Given the description of an element on the screen output the (x, y) to click on. 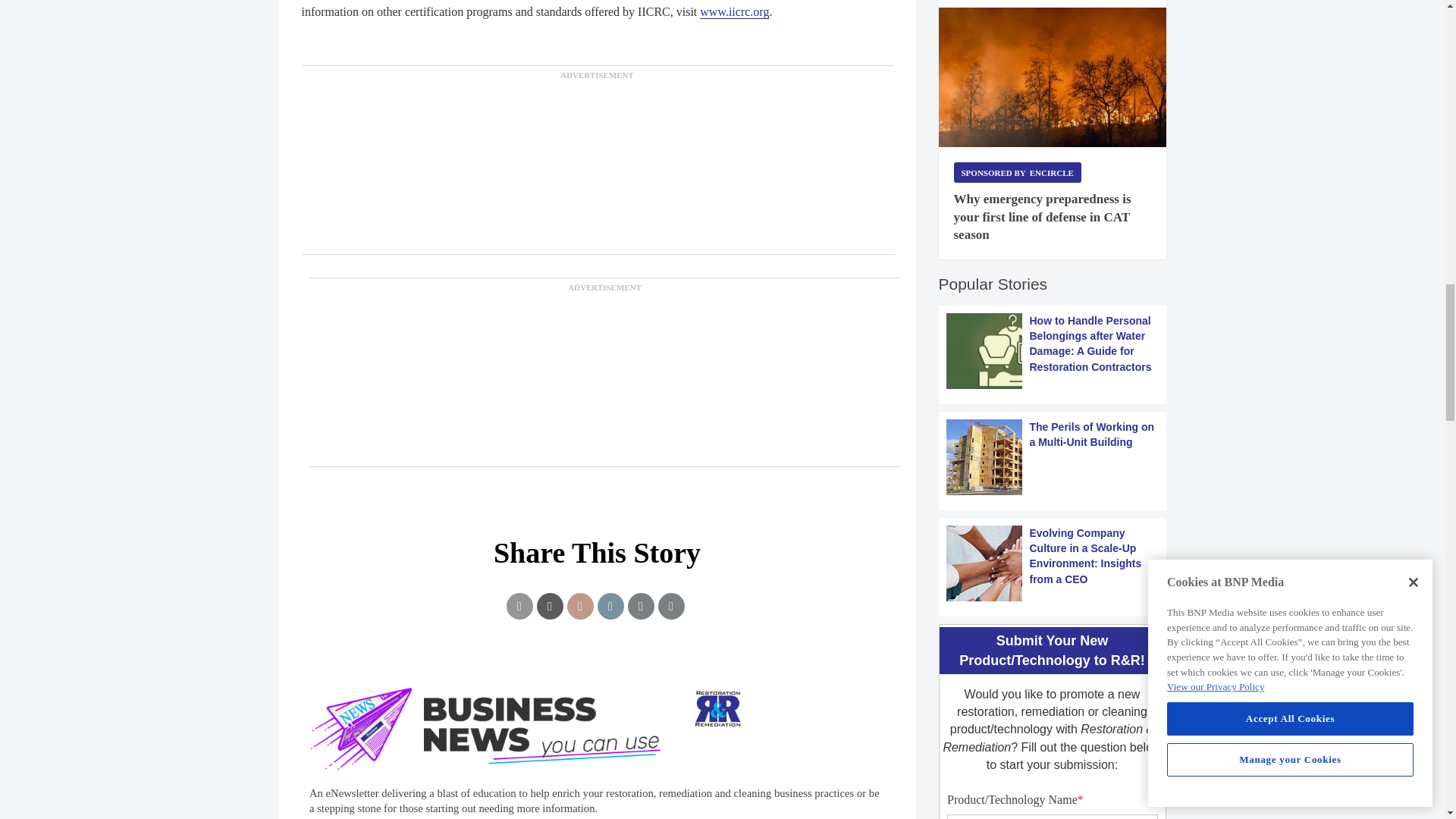
Interaction questions (1051, 801)
The Perils of Working on a Multi-Unit Building (1052, 457)
Interaction questions (597, 743)
wildfire (1052, 77)
Sponsored by Encircle (1017, 172)
